Given the description of an element on the screen output the (x, y) to click on. 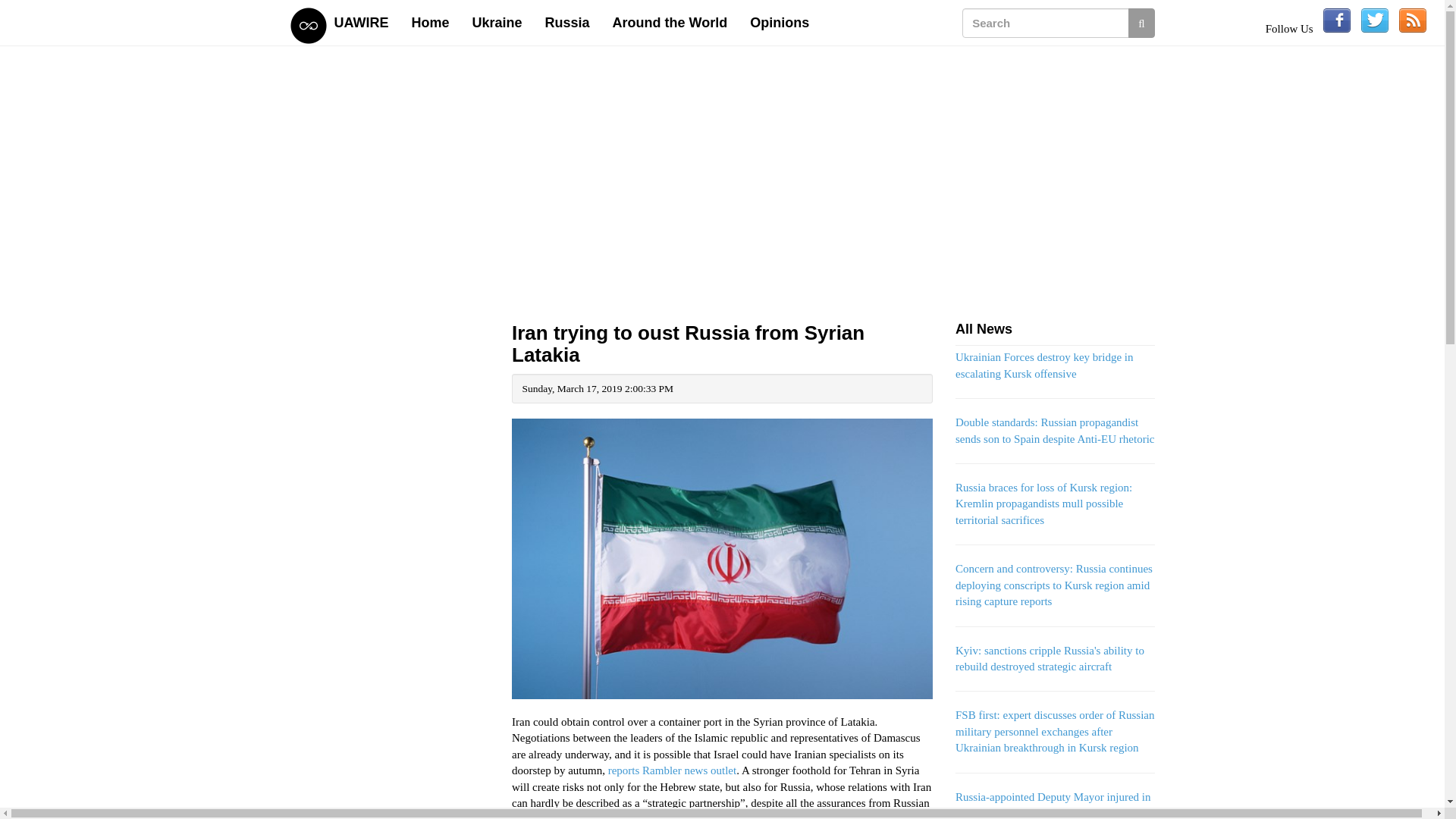
Russia (567, 22)
Follow us on Twitter (1375, 20)
UAWIRE (361, 22)
Ukraine (497, 22)
Around the World (670, 22)
